Given the description of an element on the screen output the (x, y) to click on. 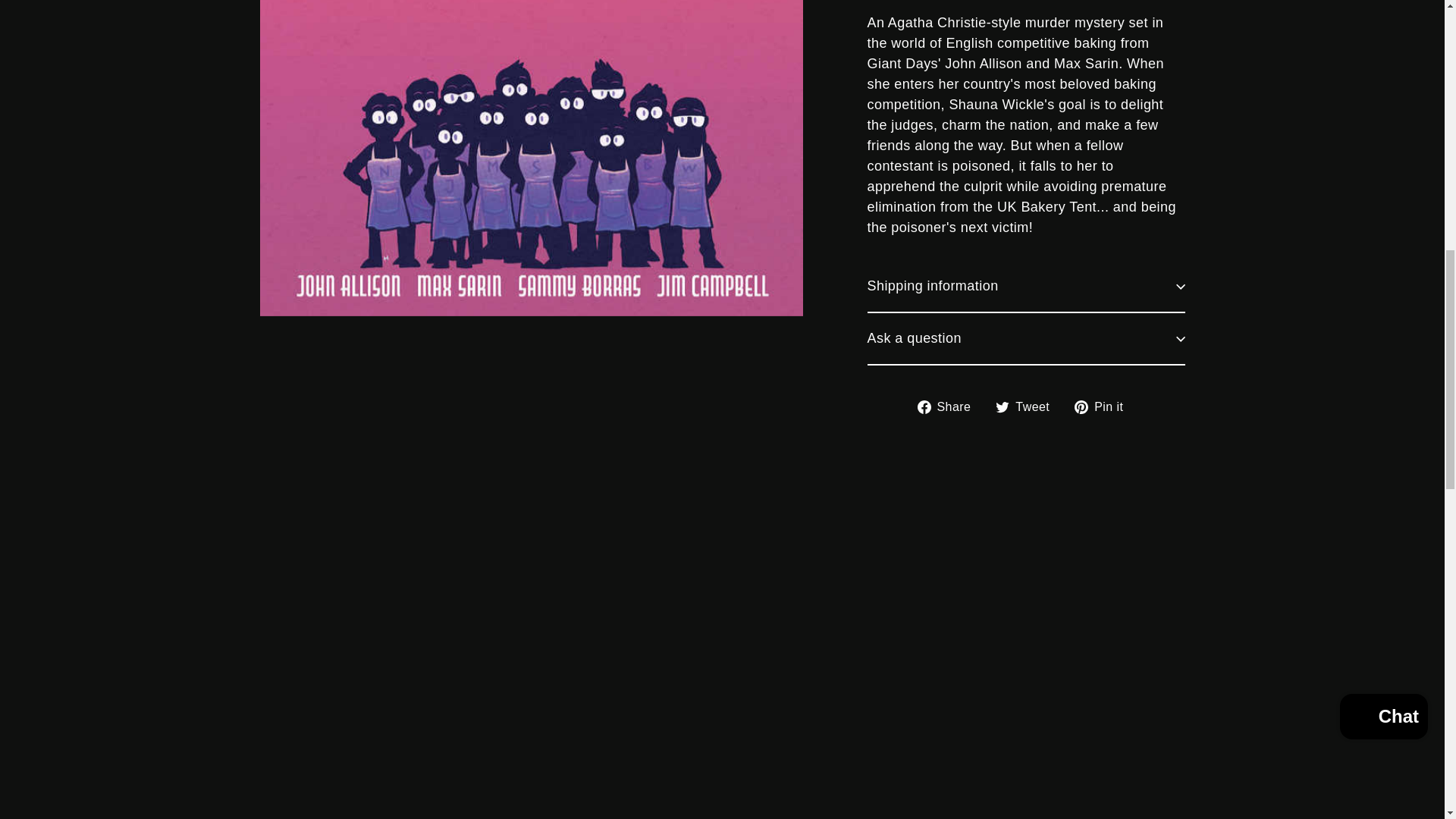
twitter (1002, 407)
Share on Facebook (949, 406)
Pin on Pinterest (1104, 406)
Tweet on Twitter (1028, 406)
ICON-HAMBURGER (130, 47)
